Given the description of an element on the screen output the (x, y) to click on. 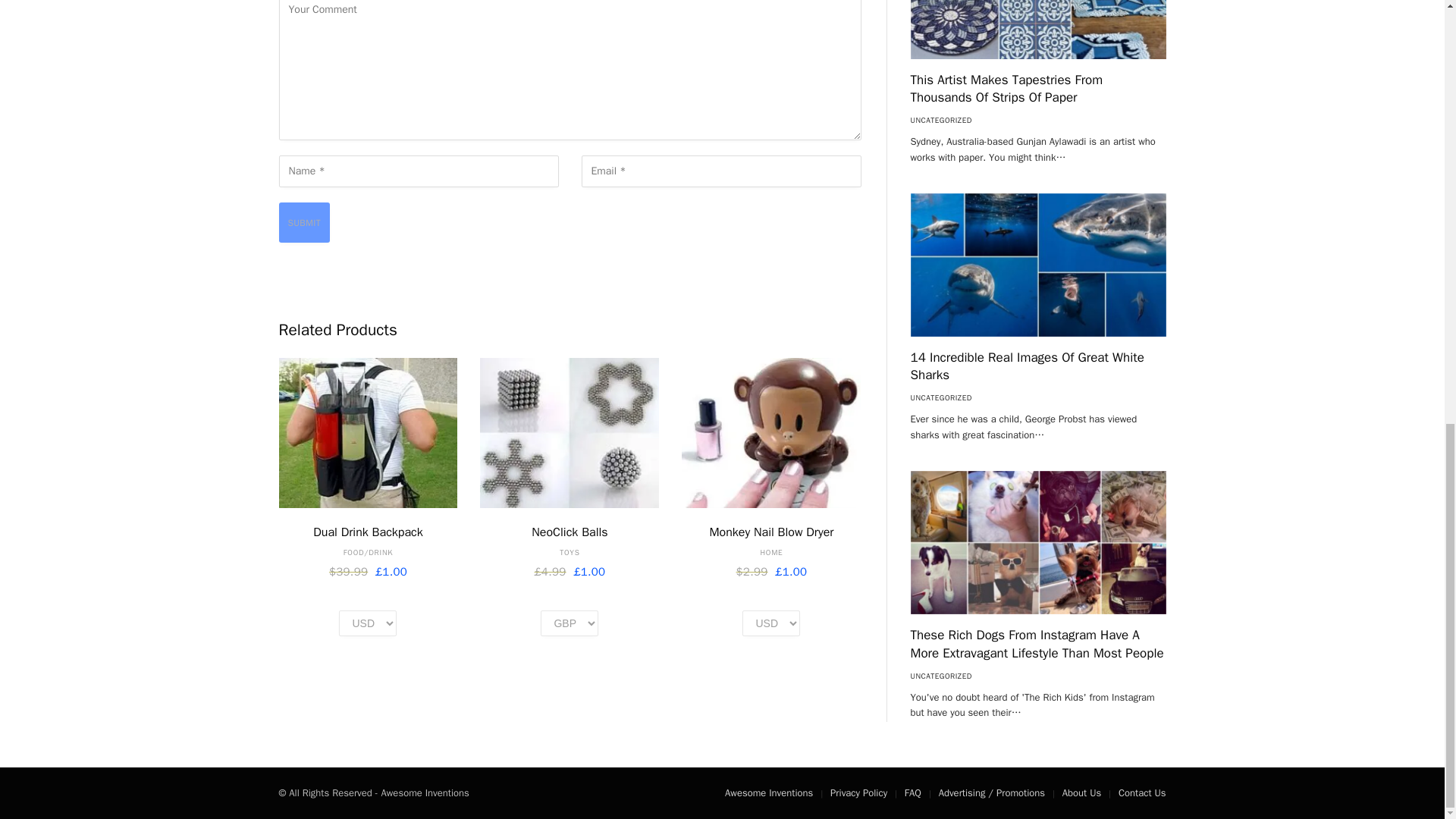
Submit (304, 222)
Select one (367, 623)
